Given the description of an element on the screen output the (x, y) to click on. 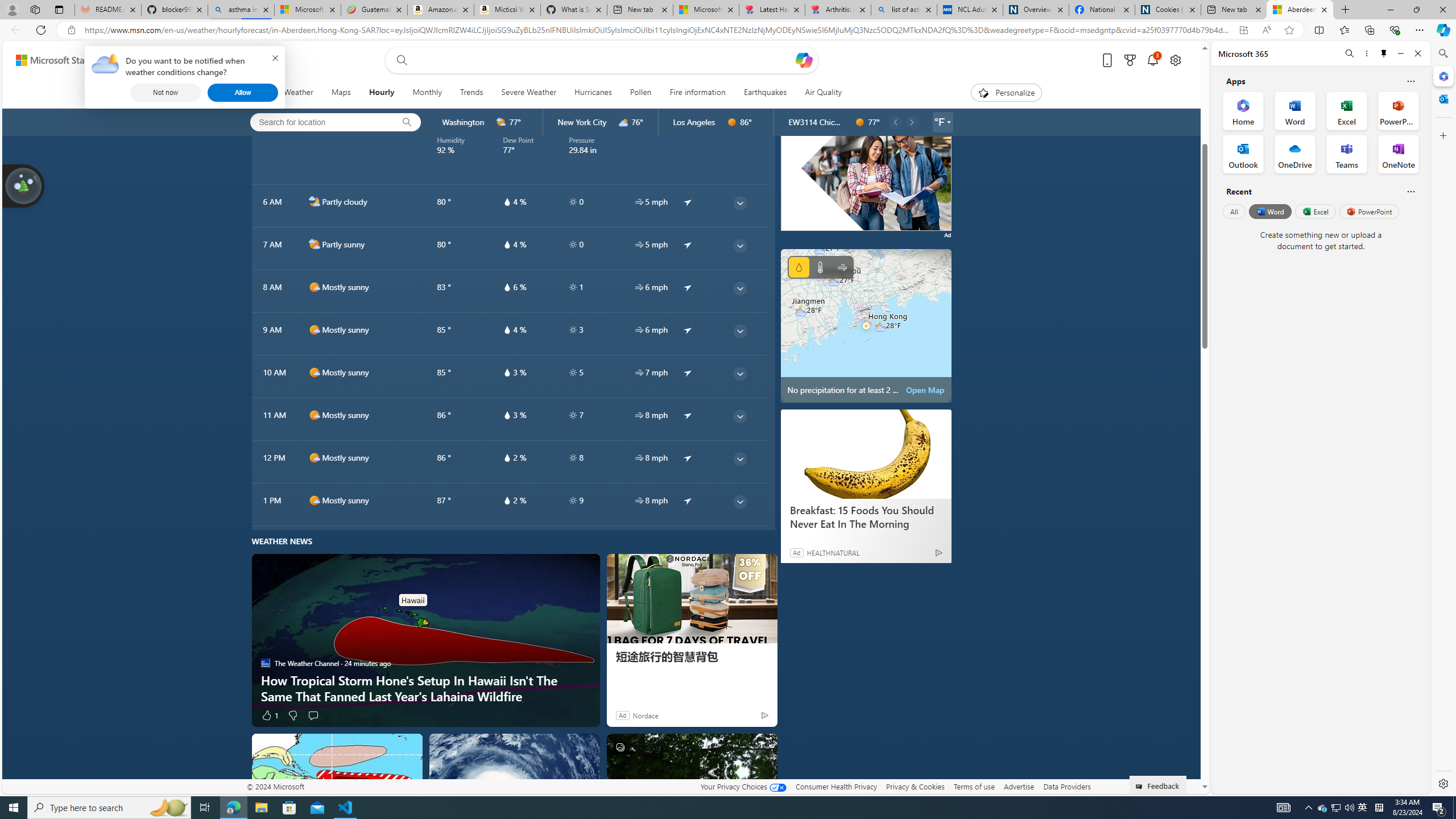
locationBar/triangle (948, 122)
Class: miniMapRadarSVGView-DS-EntryPoint1-1 (866, 325)
Excel (1315, 210)
d2000 (314, 244)
1 Like (269, 714)
Pollen (640, 92)
Fire information (698, 92)
Teams Office App (1346, 154)
